Given the description of an element on the screen output the (x, y) to click on. 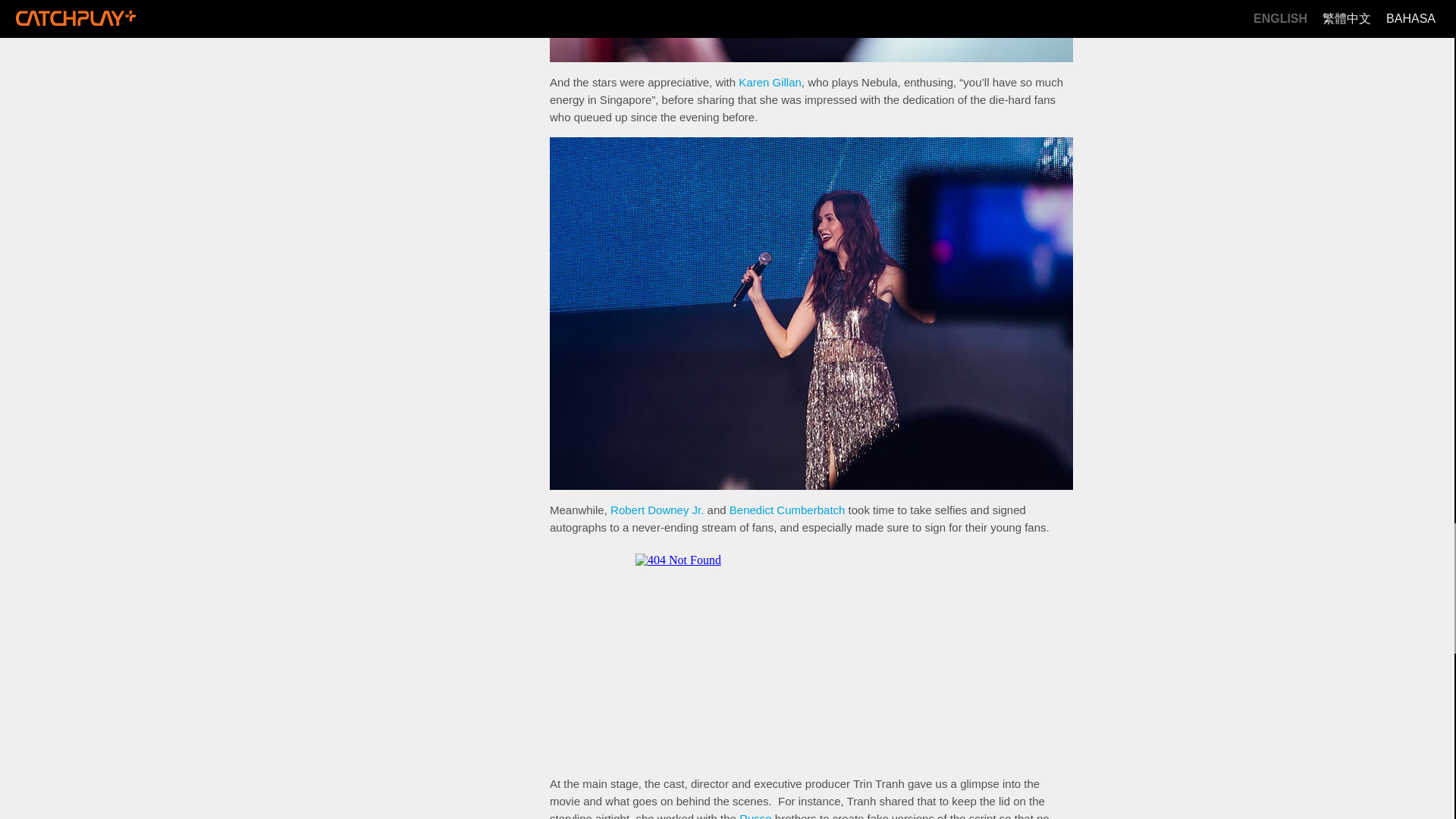
Karen Gillan (770, 82)
Russo (755, 815)
Benedict Cumberbatch (787, 509)
Robert Downey Jr. (656, 509)
